Given the description of an element on the screen output the (x, y) to click on. 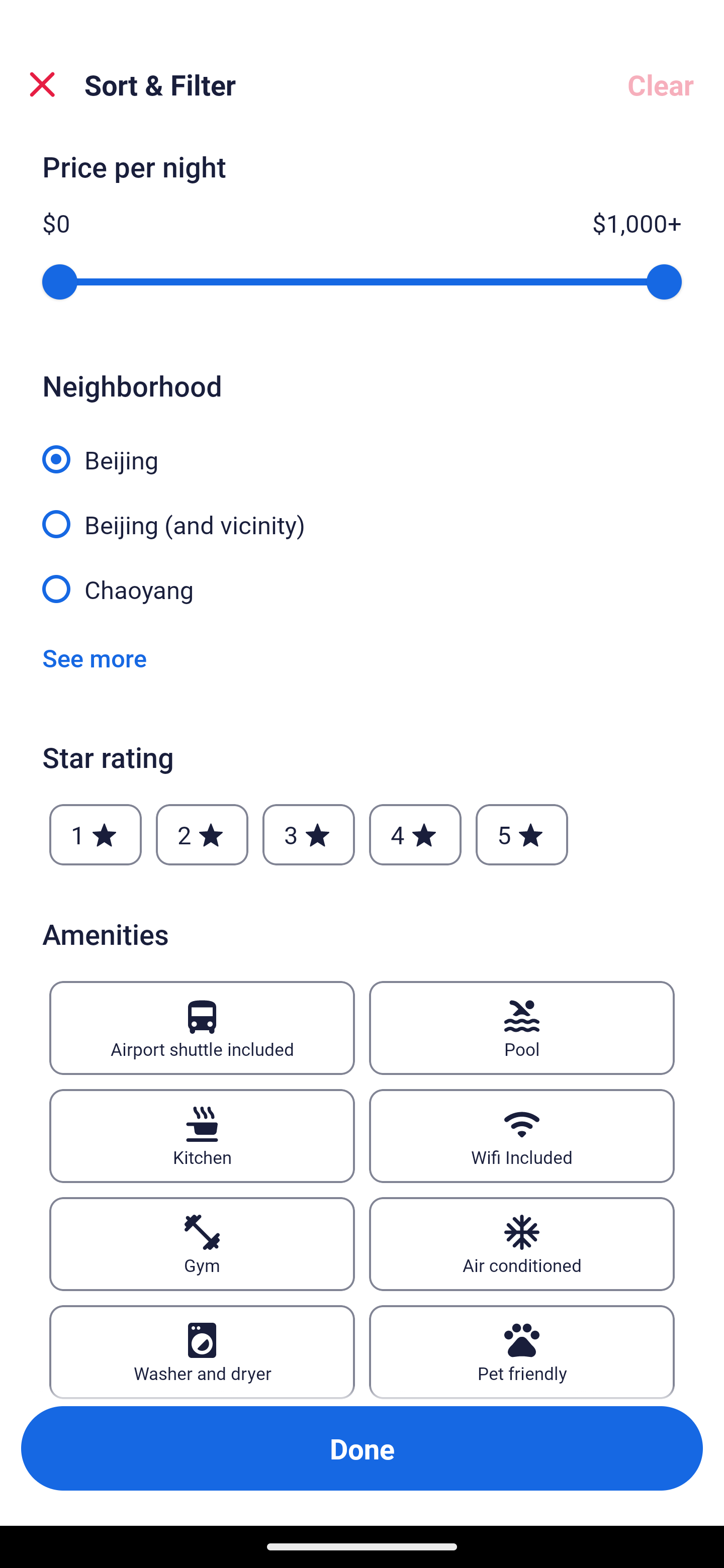
Close Sort and Filter (42, 84)
Clear (660, 84)
Beijing (and vicinity) (361, 513)
Chaoyang (361, 587)
See more See more neighborhoods Link (93, 657)
1 (95, 833)
2 (201, 833)
3 (308, 833)
4 (415, 833)
5 (521, 833)
Airport shuttle included (201, 1028)
Pool (521, 1028)
Kitchen (201, 1135)
Wifi Included (521, 1135)
Gym (201, 1243)
Air conditioned (521, 1243)
Washer and dryer (201, 1351)
Pet friendly (521, 1351)
Apply and close Sort and Filter Done (361, 1448)
